Given the description of an element on the screen output the (x, y) to click on. 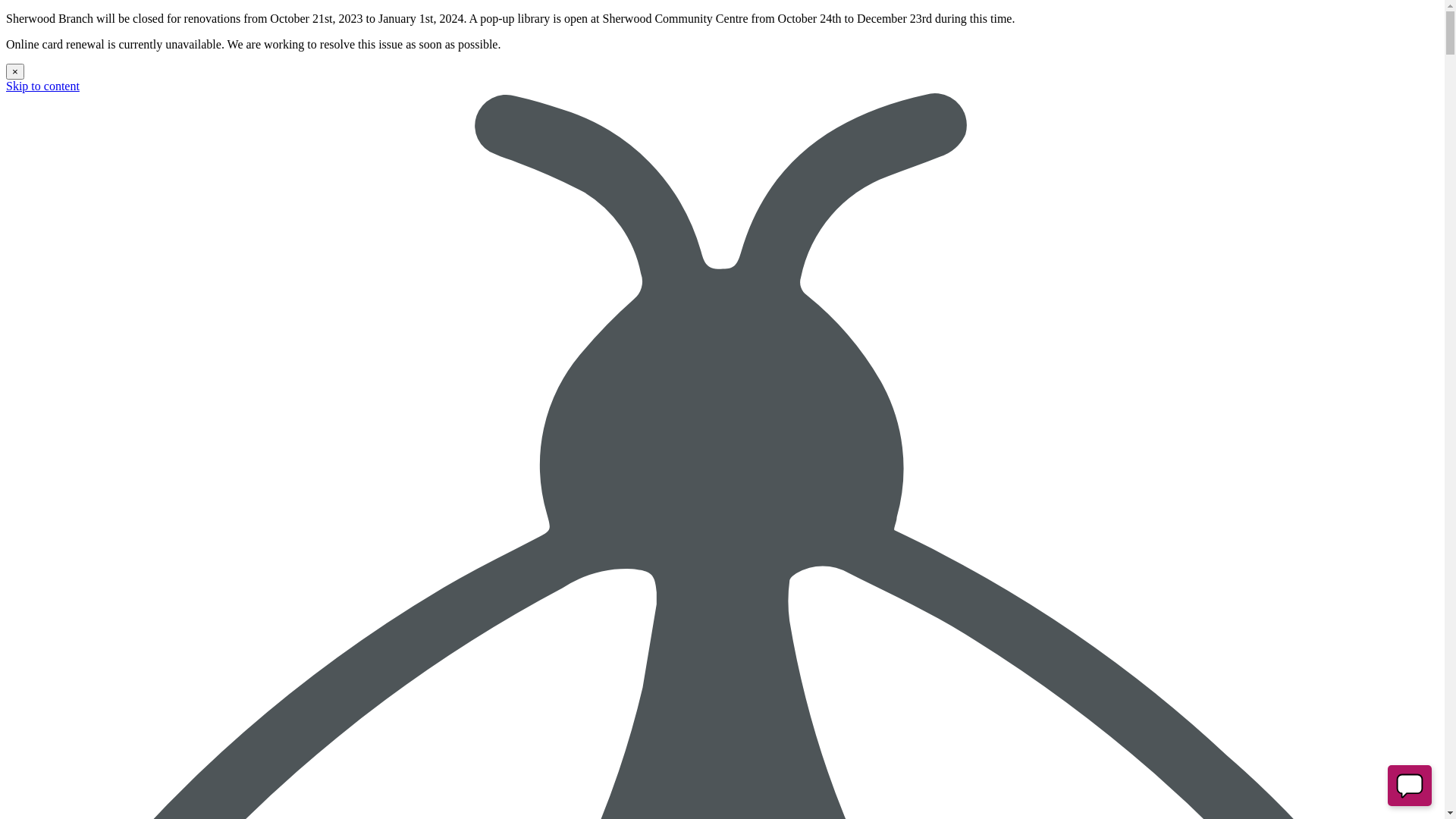
Skip to content Element type: text (42, 85)
Currently Offline Element type: text (1409, 785)
